Given the description of an element on the screen output the (x, y) to click on. 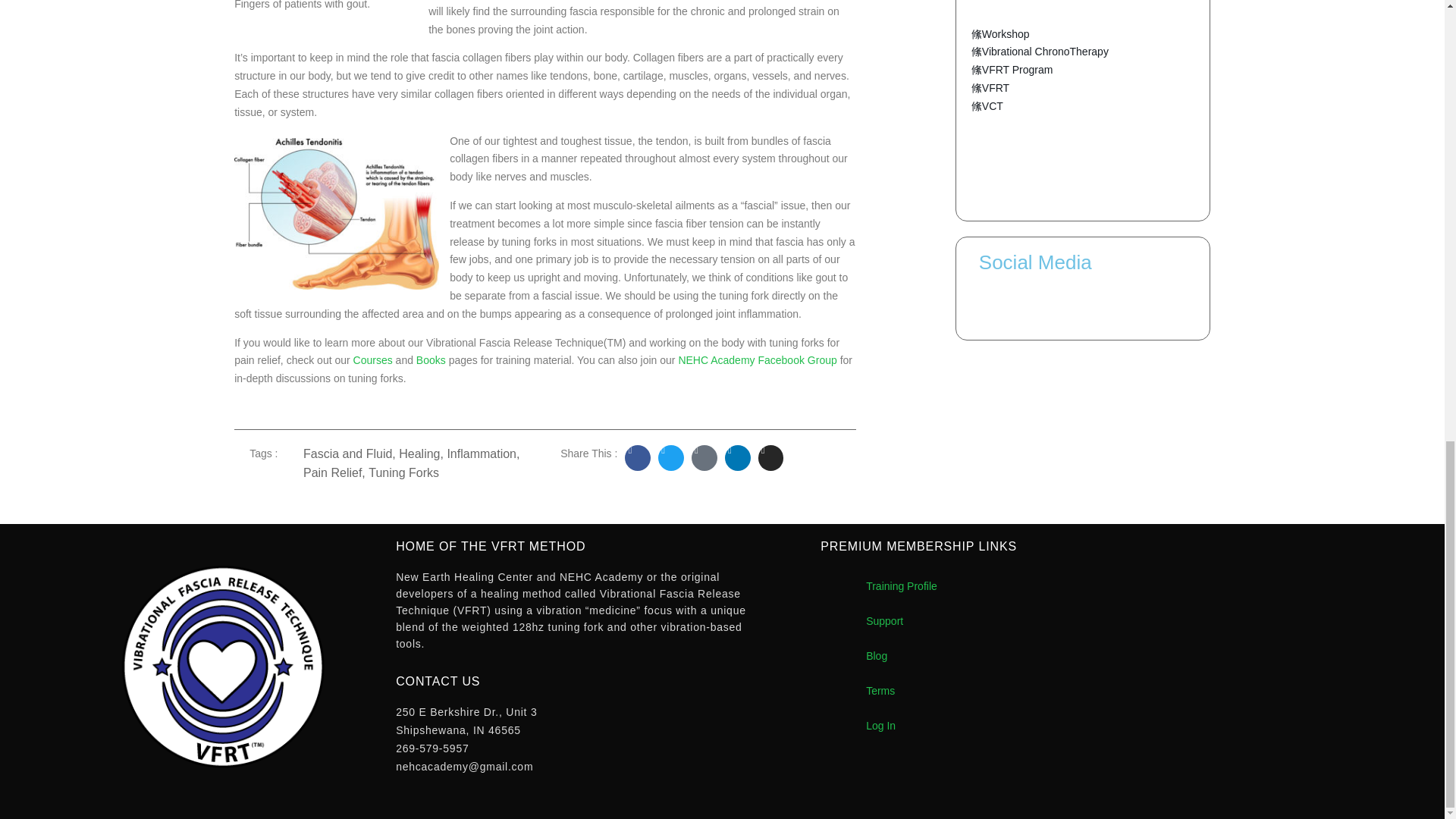
VFRT Program (1011, 70)
Workshop (1000, 34)
Books (430, 359)
VCT (987, 106)
Courses (373, 359)
NEHC Academy Facebook Group (756, 359)
VFRT (990, 88)
Vibrational ChronoTherapy (1039, 52)
